Given the description of an element on the screen output the (x, y) to click on. 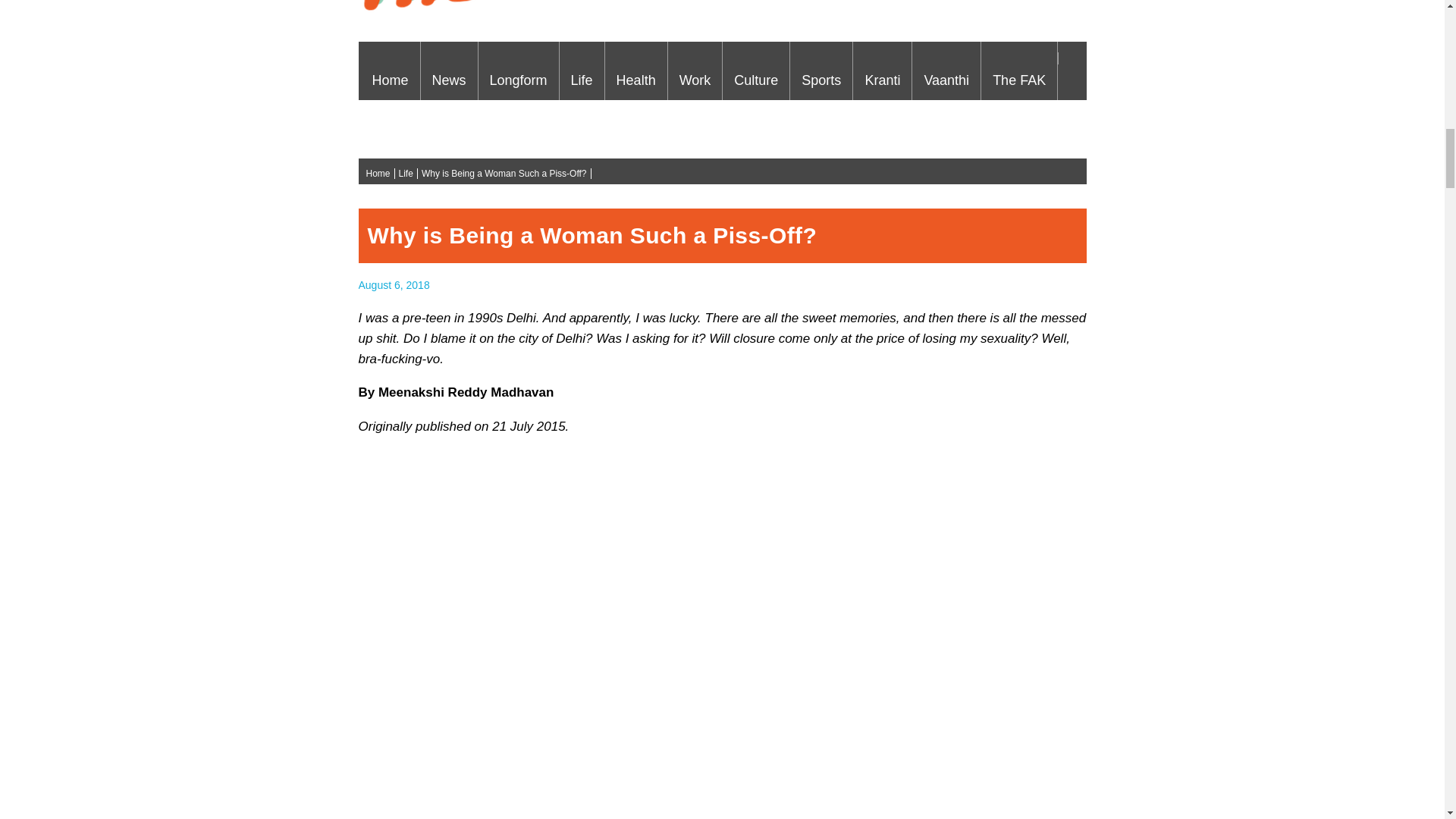
Longform (519, 69)
Vaanthi (945, 69)
Home (390, 69)
Health (635, 69)
Culture (755, 69)
Work (695, 69)
Why is Being a Woman Such a Piss-Off? (393, 285)
Kranti (882, 69)
Sports (820, 69)
The Ladies Finger (722, 21)
